Given the description of an element on the screen output the (x, y) to click on. 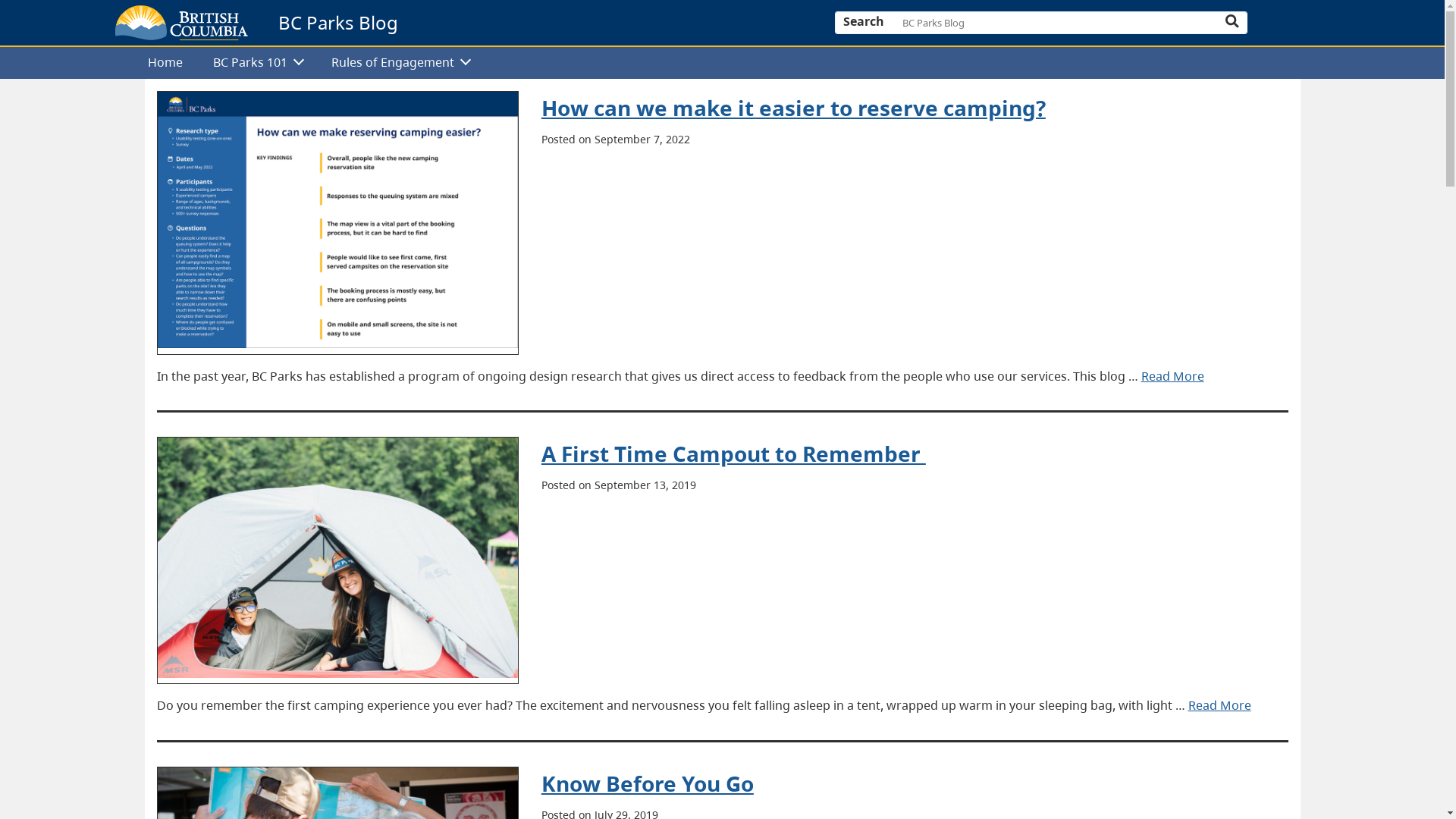
BC Parks 101 Element type: text (256, 63)
BC Parks Blog Element type: text (338, 22)
Read More Element type: text (1218, 704)
Home Element type: text (165, 63)
Know Before You Go Element type: text (647, 782)
Read More Element type: text (1171, 375)
How can we make it easier to reserve camping? Element type: text (793, 107)
Rules of Engagement Element type: text (399, 63)
A First Time Campout to Remember  Element type: text (733, 453)
